Given the description of an element on the screen output the (x, y) to click on. 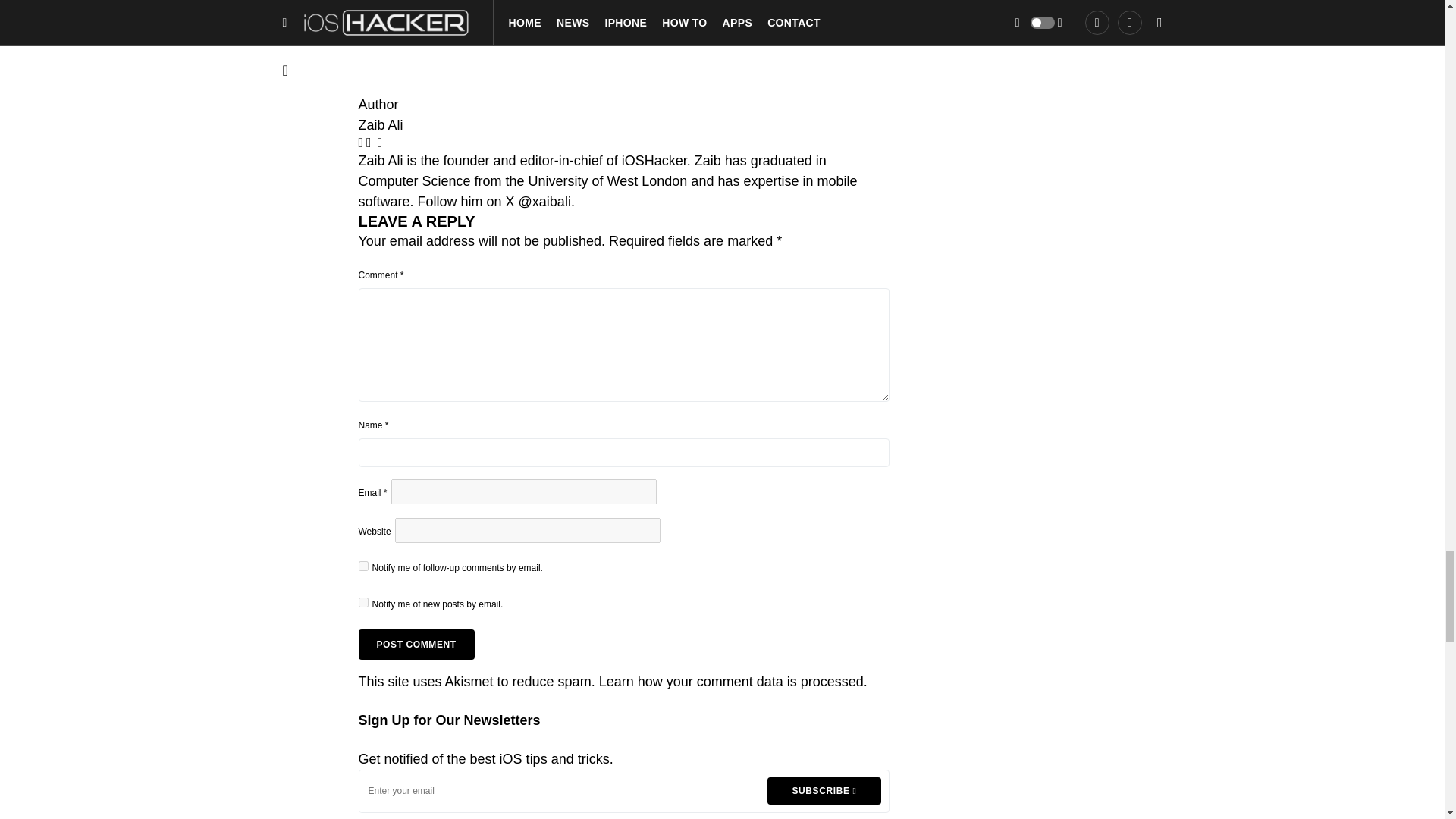
subscribe (363, 565)
Post Comment (416, 644)
subscribe (363, 602)
